Given the description of an element on the screen output the (x, y) to click on. 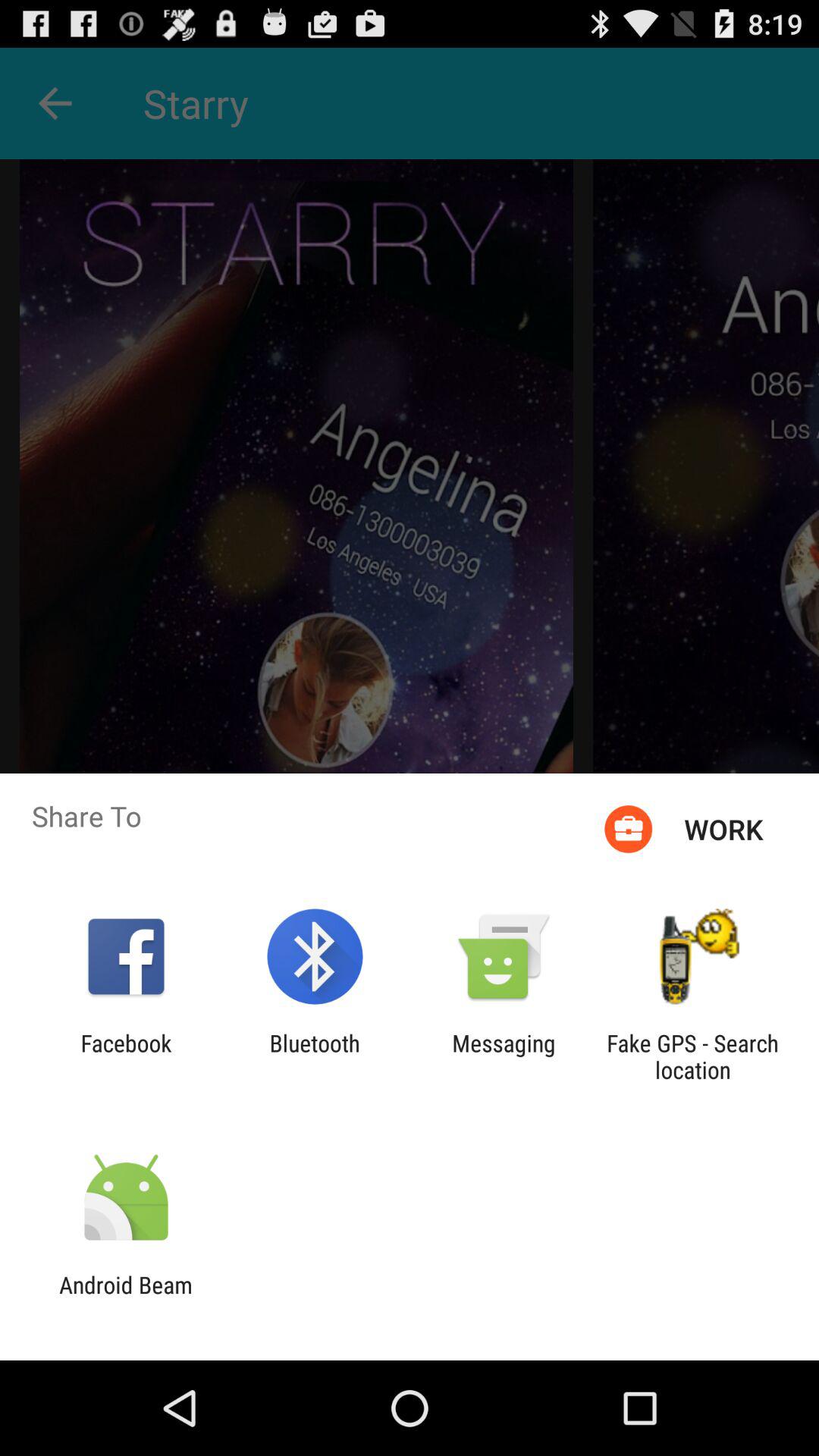
select fake gps search app (692, 1056)
